Given the description of an element on the screen output the (x, y) to click on. 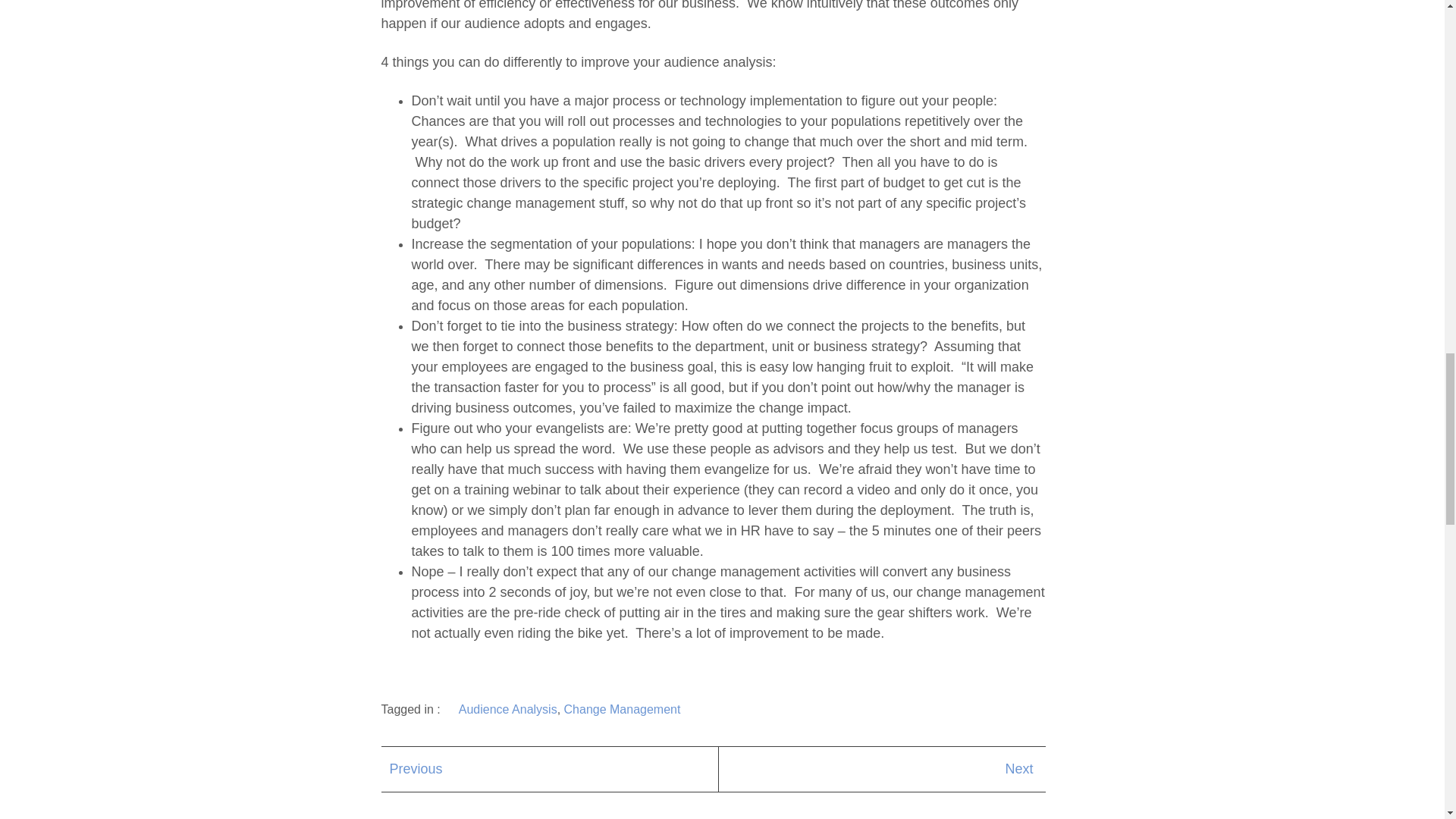
Audience Analysis (507, 708)
Next (1018, 768)
Previous (416, 768)
Change Management (622, 708)
